Given the description of an element on the screen output the (x, y) to click on. 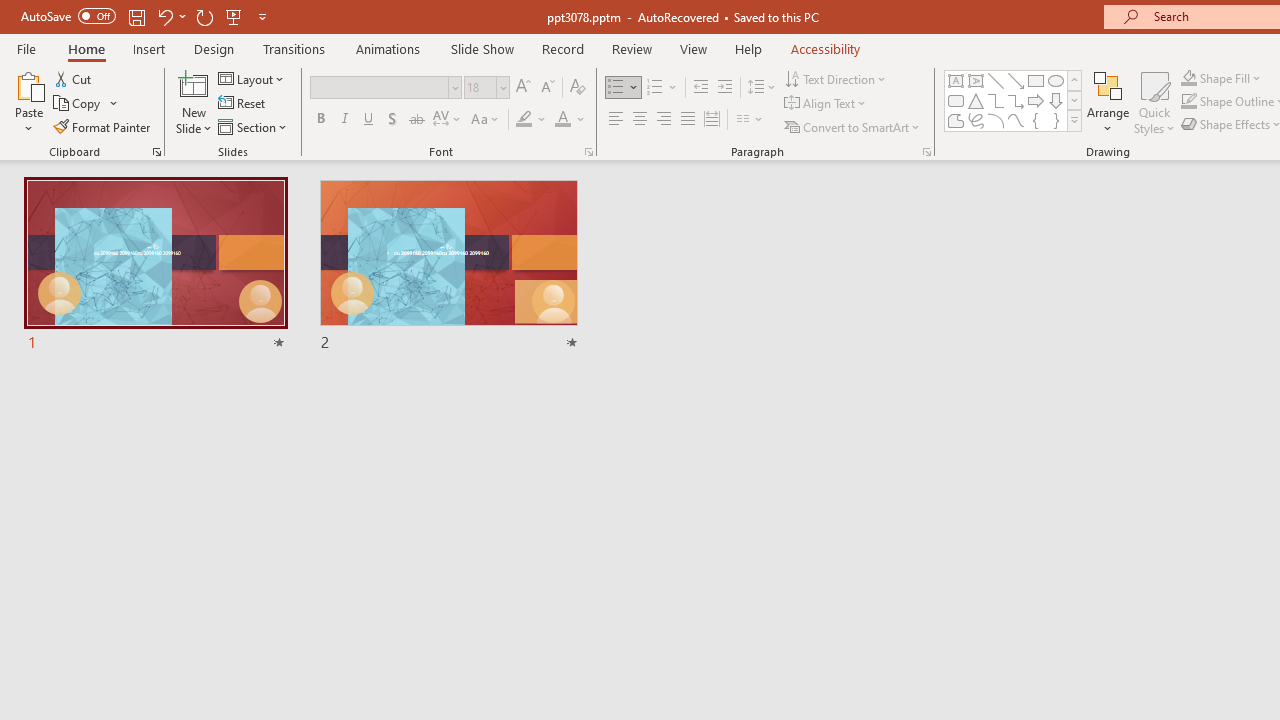
Shape Outline Green, Accent 1 (1188, 101)
